Given the description of an element on the screen output the (x, y) to click on. 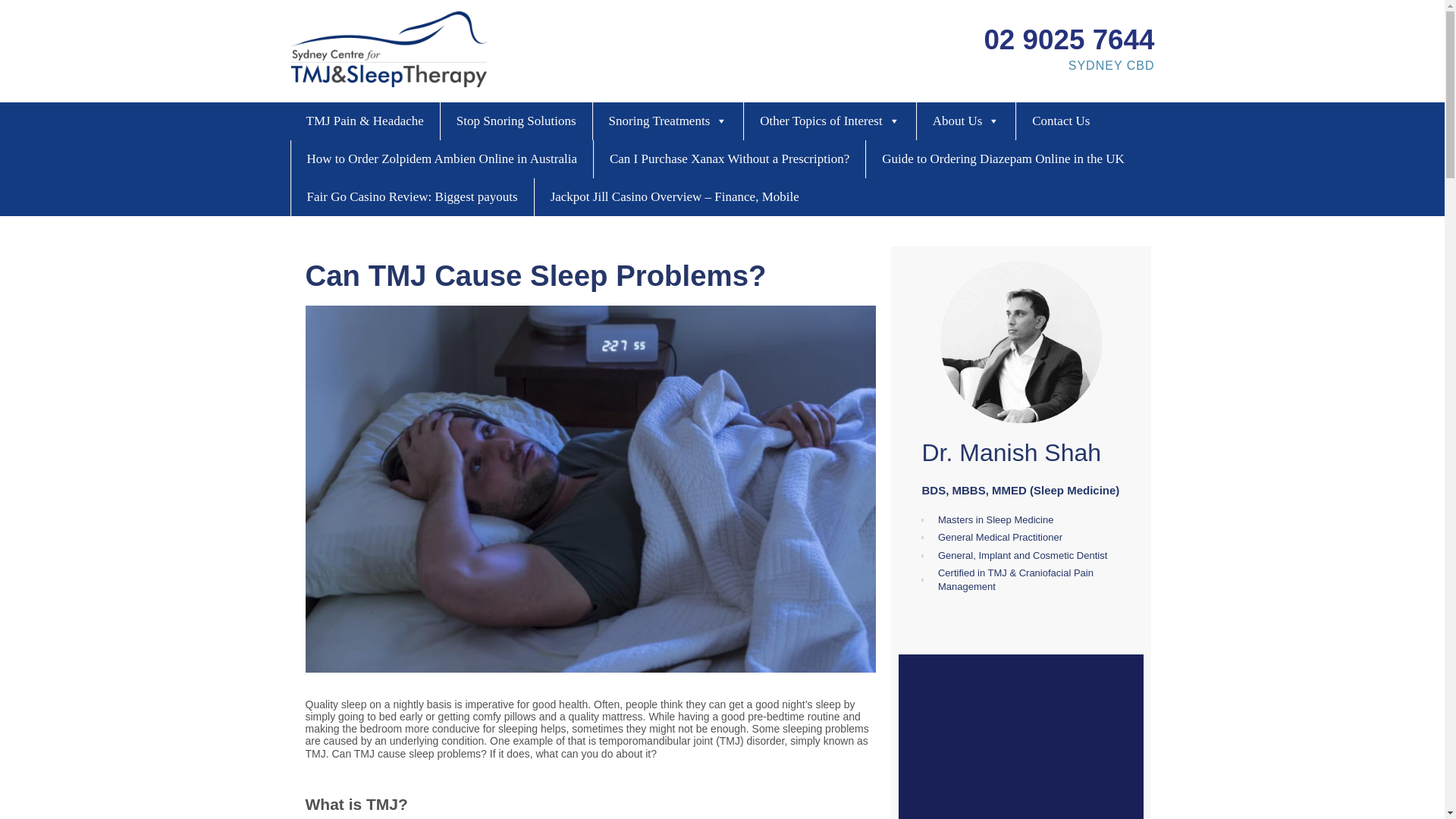
About Us (966, 121)
Snoring Treatments (668, 121)
Other Topics of Interest (829, 121)
How to Order Zolpidem Ambien Online in Australia (441, 159)
Guide to Ordering Diazepam Online in the UK (1003, 159)
Stop Snoring Solutions (516, 121)
Fair Go Casino Review: Biggest payouts (412, 197)
Can I Purchase Xanax Without a Prescription? (729, 159)
Contact Us (1060, 121)
